Given the description of an element on the screen output the (x, y) to click on. 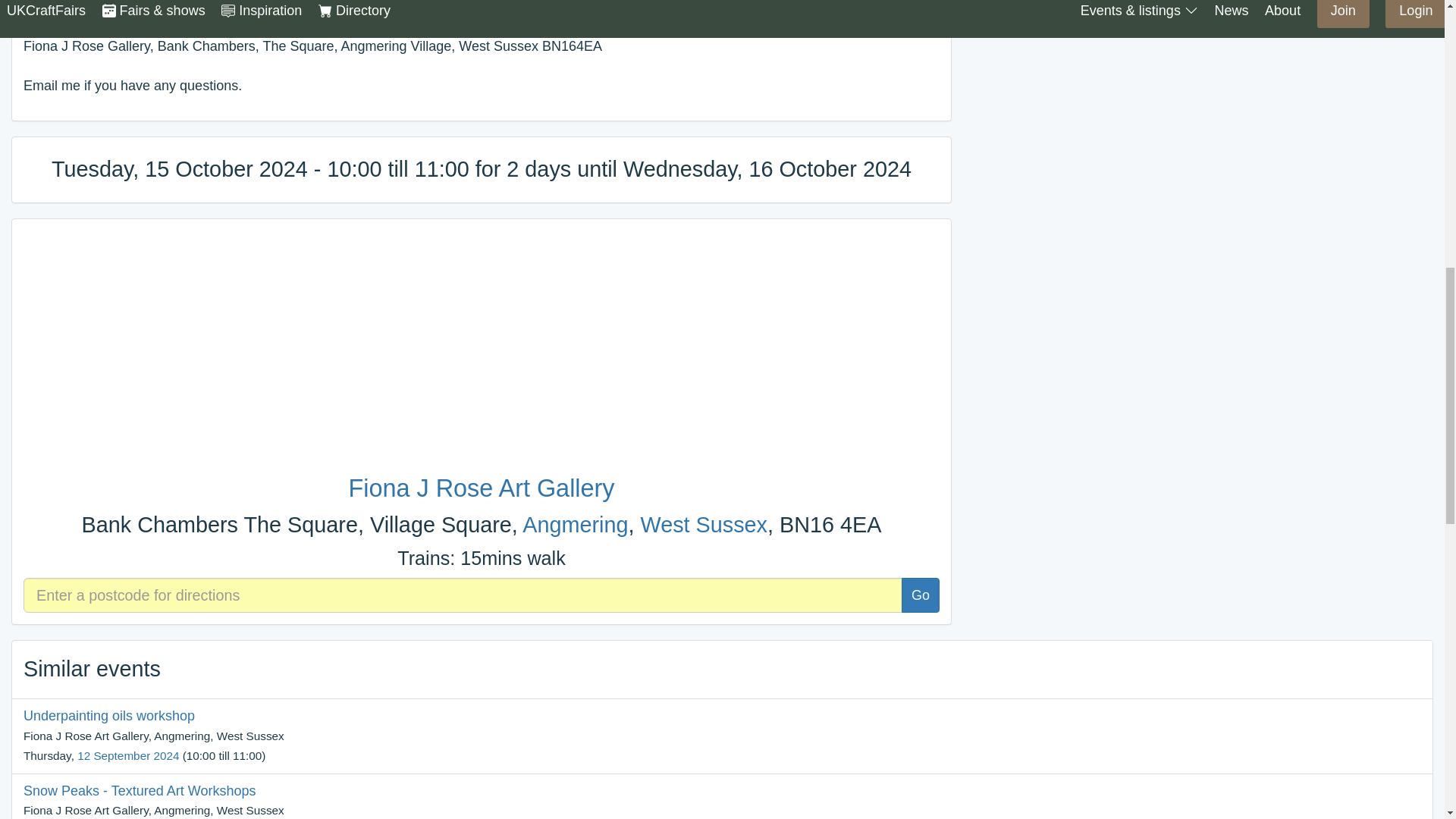
Fiona J Rose Art Gallery (480, 488)
Angmering (574, 524)
West Sussex (703, 524)
Go (920, 595)
